Given the description of an element on the screen output the (x, y) to click on. 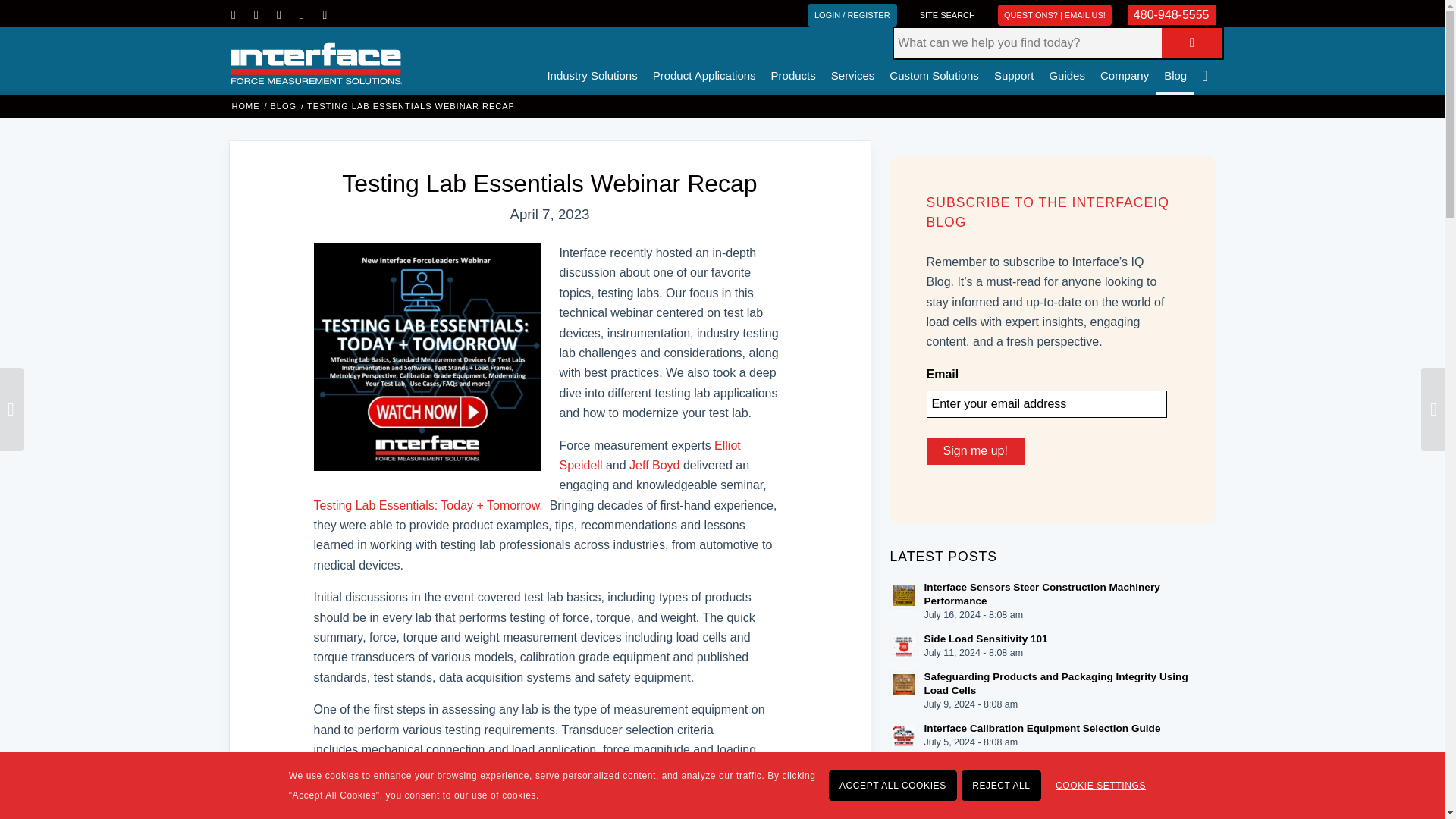
Interface (245, 105)
Mail (302, 15)
Youtube (325, 15)
Sign me up! (975, 451)
Facebook (233, 15)
Product Applications (703, 60)
480-948-5555 (1170, 14)
SITE SEARCH (946, 15)
Permanent Link: Testing Lab Essentials Webinar Recap (549, 183)
Twitter (256, 15)
LinkedIn (278, 15)
Industry Solutions (591, 60)
